Given the description of an element on the screen output the (x, y) to click on. 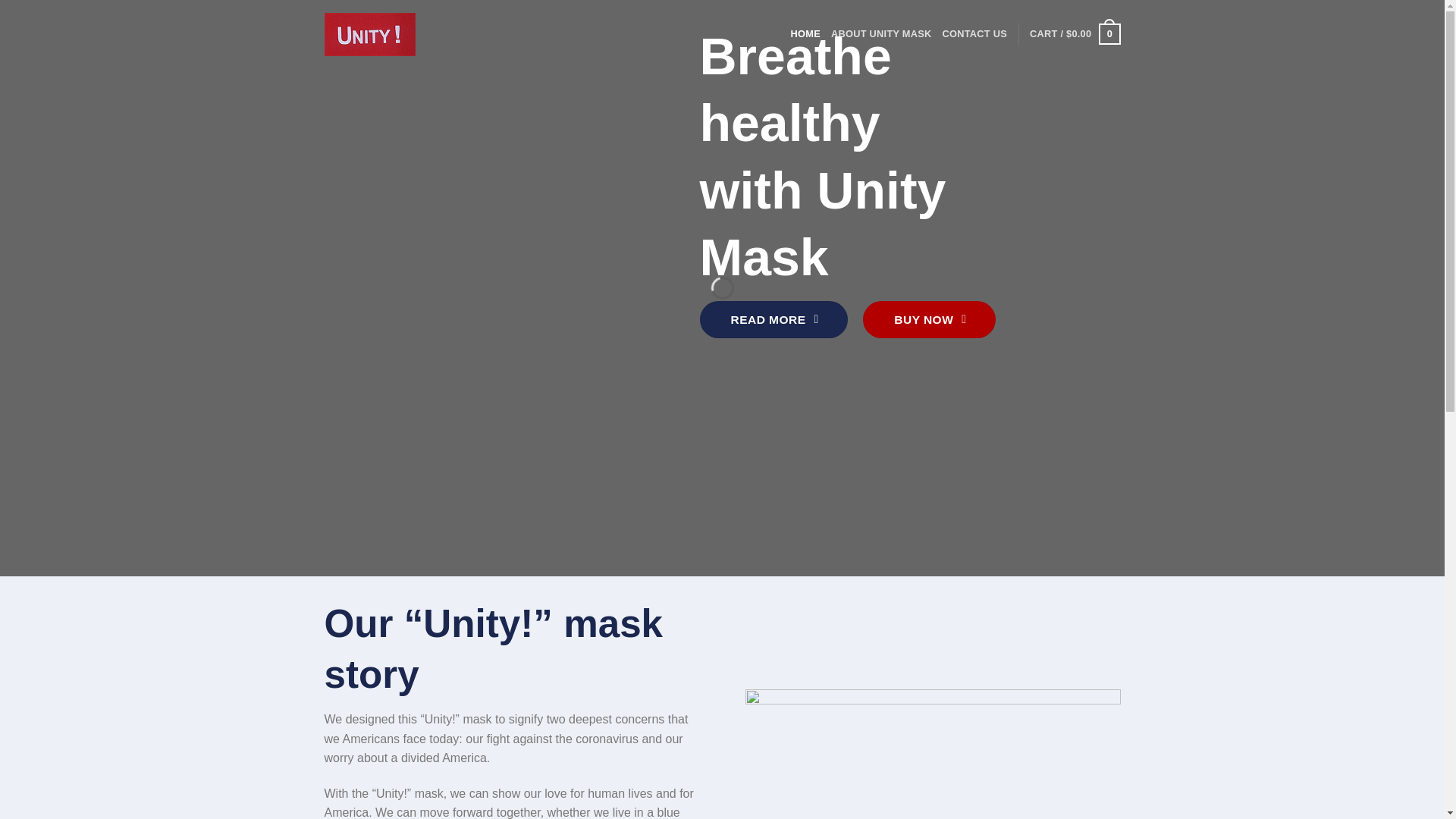
CONTACT US (974, 33)
ABOUT UNITY MASK (881, 33)
Cart (1074, 34)
BUY NOW (929, 319)
READ MORE (772, 319)
HOME (805, 33)
Unity Mask (369, 33)
